Given the description of an element on the screen output the (x, y) to click on. 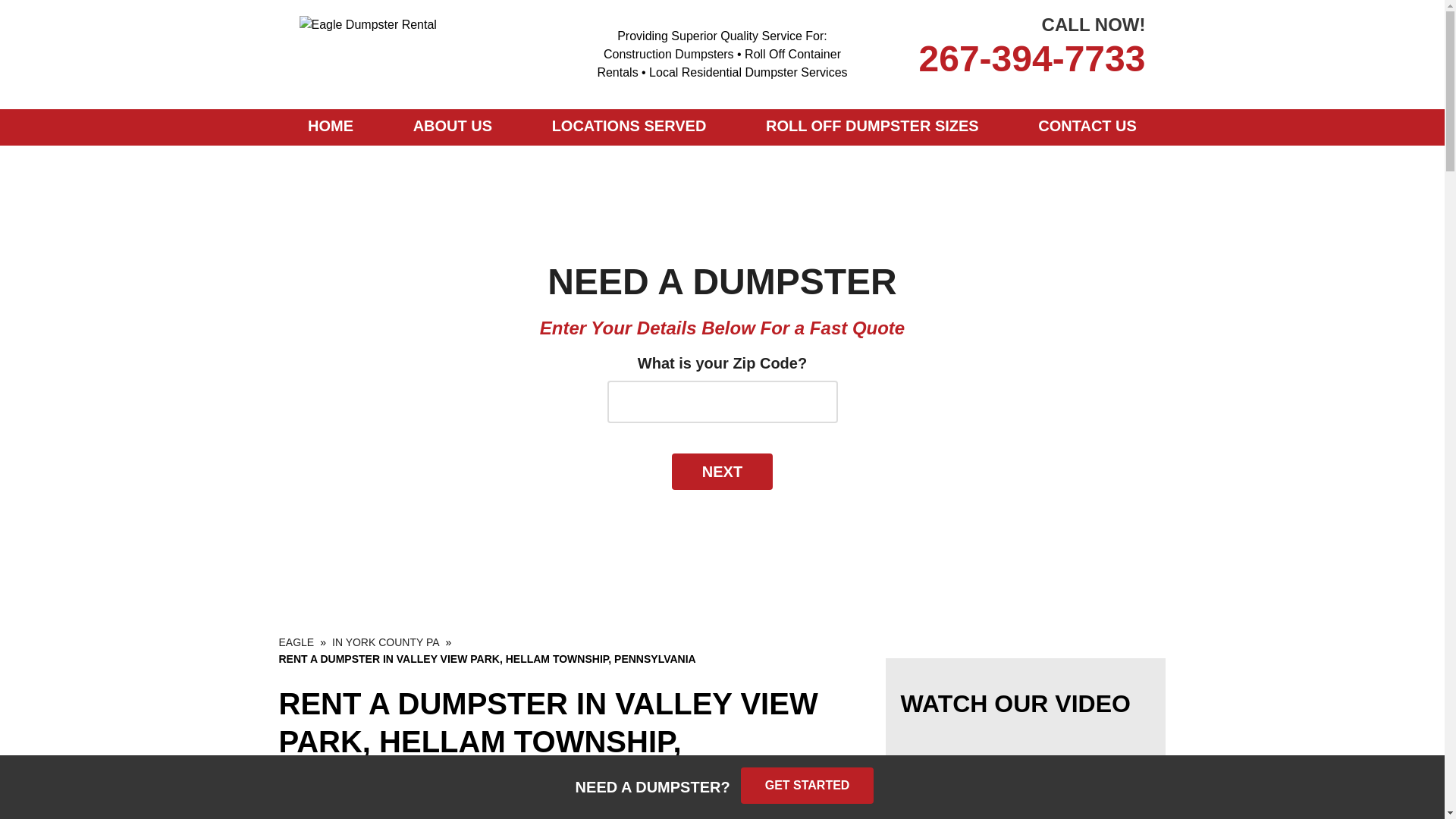
CONTACT US (1087, 127)
LOCATIONS SERVED (628, 127)
IN YORK COUNTY PA (385, 642)
Dumpster Rental in York County PA (385, 642)
267-394-7733 (1009, 58)
Eagle Dumpster Rental (296, 642)
HOME (330, 127)
GET STARTED (808, 785)
ROLL OFF DUMPSTER SIZES (871, 127)
EAGLE (296, 642)
ABOUT US (452, 127)
